Given the description of an element on the screen output the (x, y) to click on. 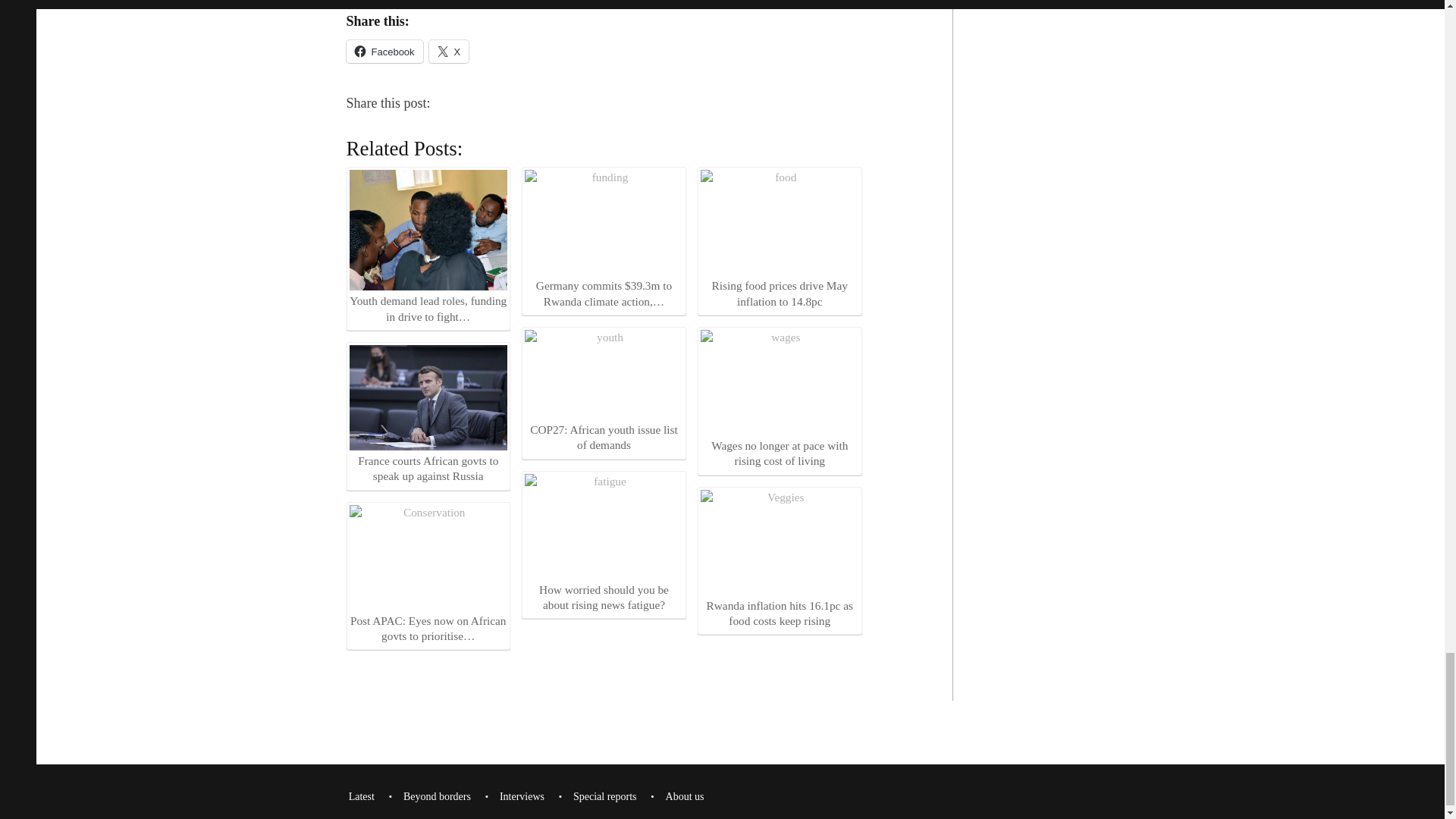
Click to share on X (448, 51)
France courts African govts to speak up against Russia (427, 414)
COP27: African youth issue list of demands (603, 374)
Rising food prices drive May inflation to 14.8pc (779, 239)
Facebook (384, 51)
France courts African govts to speak up against Russia (427, 397)
Wages no longer at pace with rising cost of living (779, 399)
X (448, 51)
Click to share on Facebook (384, 51)
How worried should you be about rising news fatigue? (603, 526)
COP27: African youth issue list of demands (603, 391)
How worried should you be about rising news fatigue? (603, 543)
Rwanda inflation hits 16.1pc as food costs keep rising (779, 559)
